Given the description of an element on the screen output the (x, y) to click on. 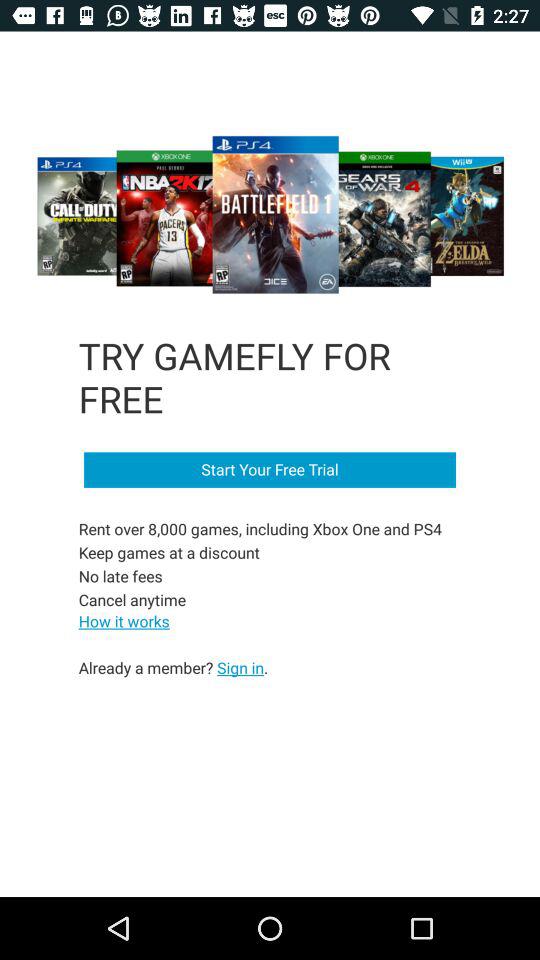
flip until the how it works icon (123, 620)
